Given the description of an element on the screen output the (x, y) to click on. 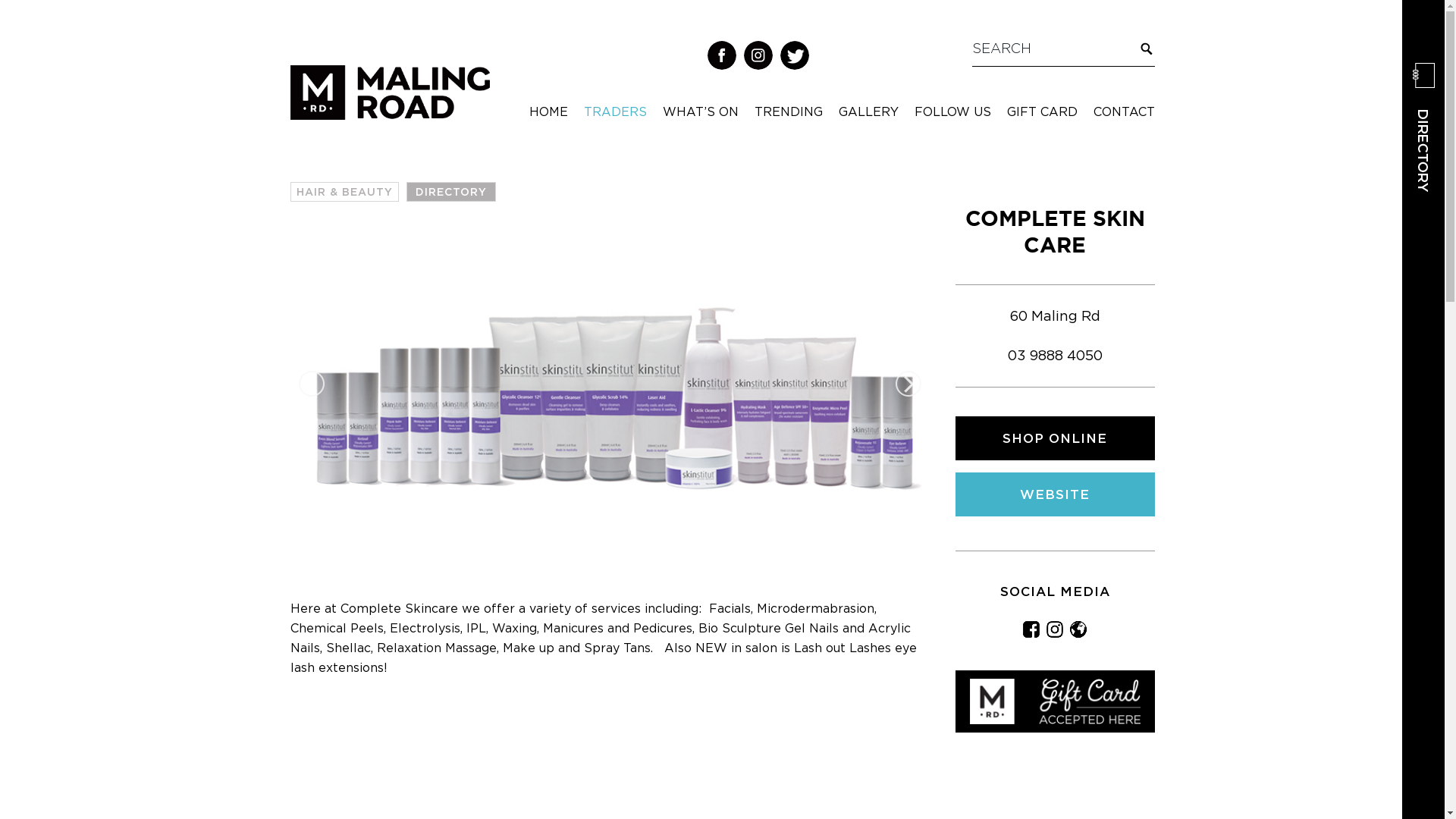
DIRECTORY Element type: text (1423, 127)
next Element type: text (908, 383)
SHOP ONLINE Element type: text (1054, 438)
prev Element type: text (311, 383)
facebook Element type: text (721, 54)
FOLLOW US Element type: text (952, 111)
WEBSITE Element type: text (1054, 494)
twitter Element type: text (794, 54)
Search Element type: text (1144, 50)
Instagram Element type: text (1054, 629)
ACCEPTS GIFT CARDS Element type: text (1054, 701)
Website Element type: text (1078, 629)
HAIR & BEAUTY Element type: text (343, 191)
Facebook Element type: text (1030, 629)
TRENDING Element type: text (787, 111)
GALLERY Element type: text (868, 111)
CONTACT Element type: text (1123, 111)
DIRECTORY Element type: text (450, 191)
Maling Road Element type: hover (389, 92)
instagram Element type: text (757, 54)
TRADERS Element type: text (614, 111)
HOME Element type: text (548, 111)
GIFT CARD Element type: text (1042, 111)
